Given the description of an element on the screen output the (x, y) to click on. 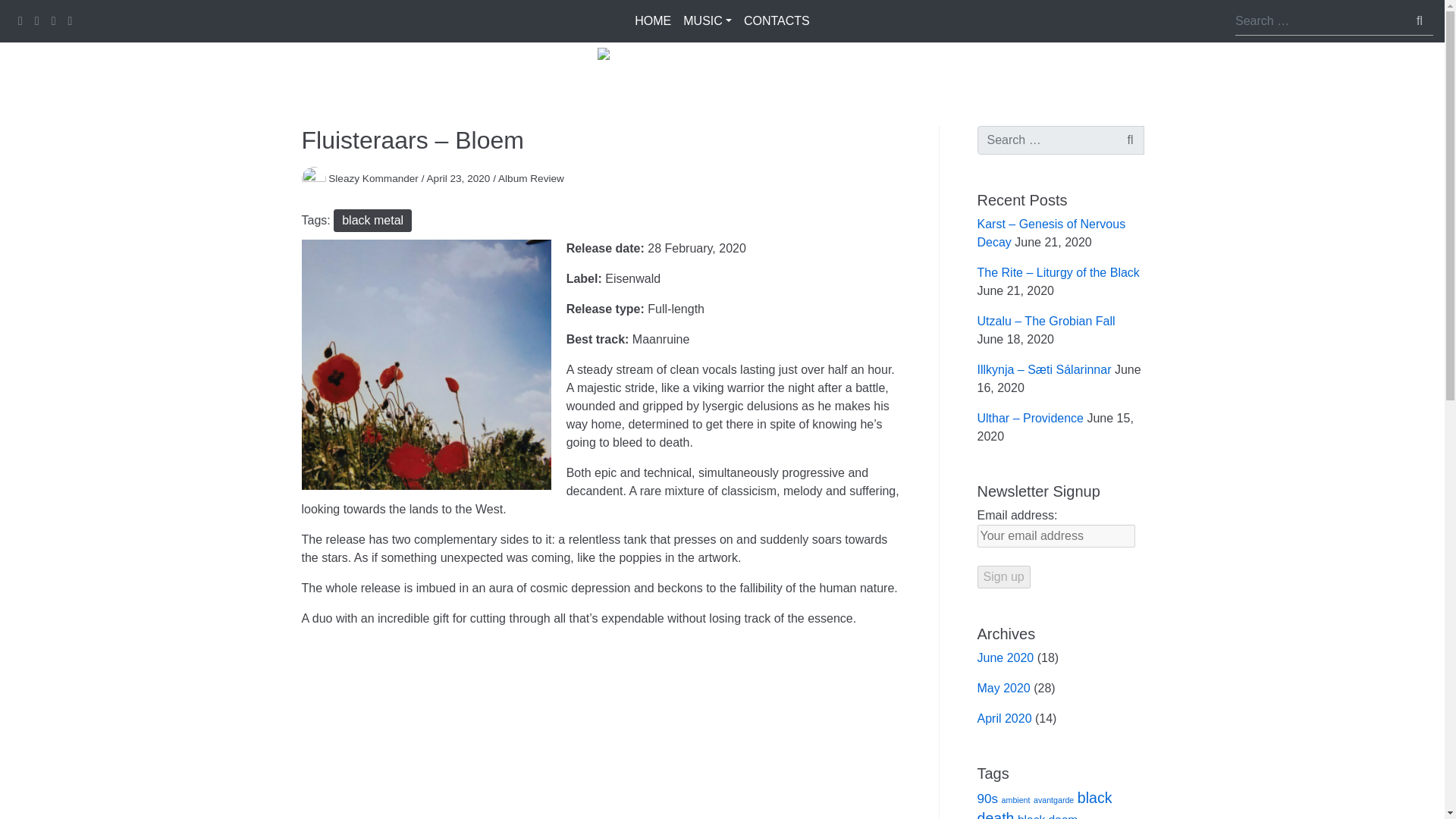
Sleazy Kommander (374, 178)
Home (652, 20)
CONTACTS (776, 20)
MUSIC (707, 20)
Music (707, 20)
HOME (652, 20)
Sign up (1002, 576)
